Given the description of an element on the screen output the (x, y) to click on. 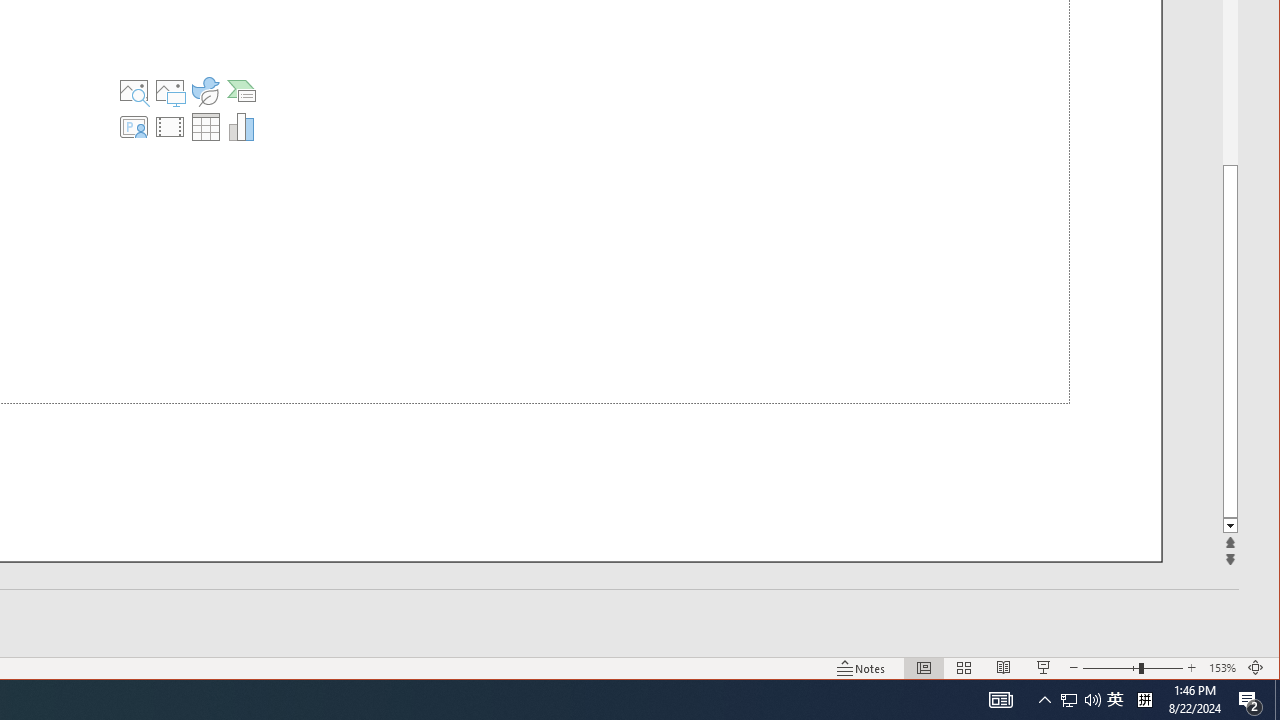
Notes  (861, 668)
Show desktop (1277, 699)
Zoom to Fit  (1069, 699)
Insert Table (1256, 668)
Q2790: 100% (1115, 699)
Insert a SmartArt Graphic (205, 126)
Zoom 153% (1092, 699)
